Given the description of an element on the screen output the (x, y) to click on. 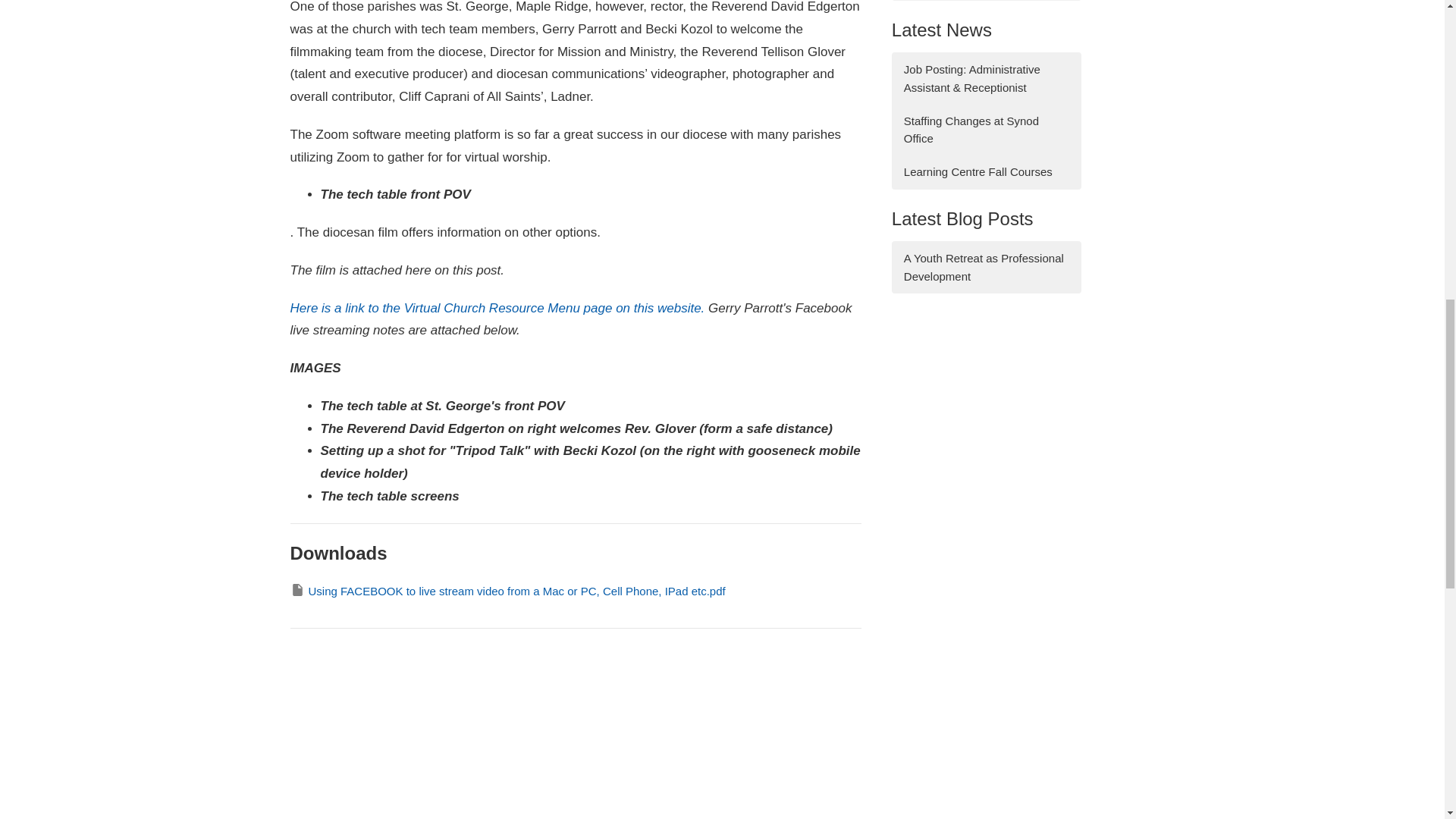
To download, right-click the file and select "Save link as". (507, 590)
